Given the description of an element on the screen output the (x, y) to click on. 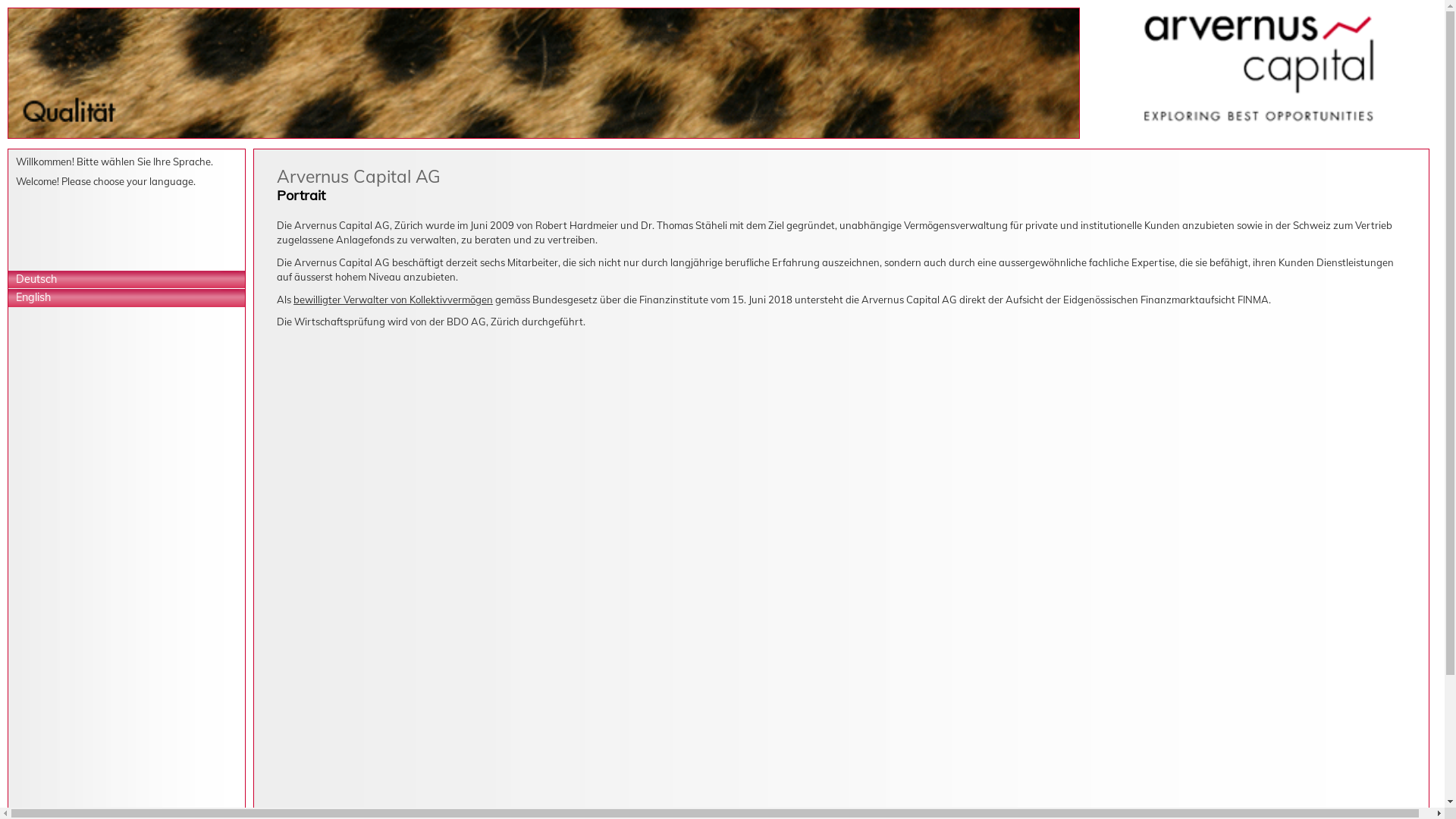
English Element type: text (127, 297)
Deutsch Element type: text (127, 279)
